Given the description of an element on the screen output the (x, y) to click on. 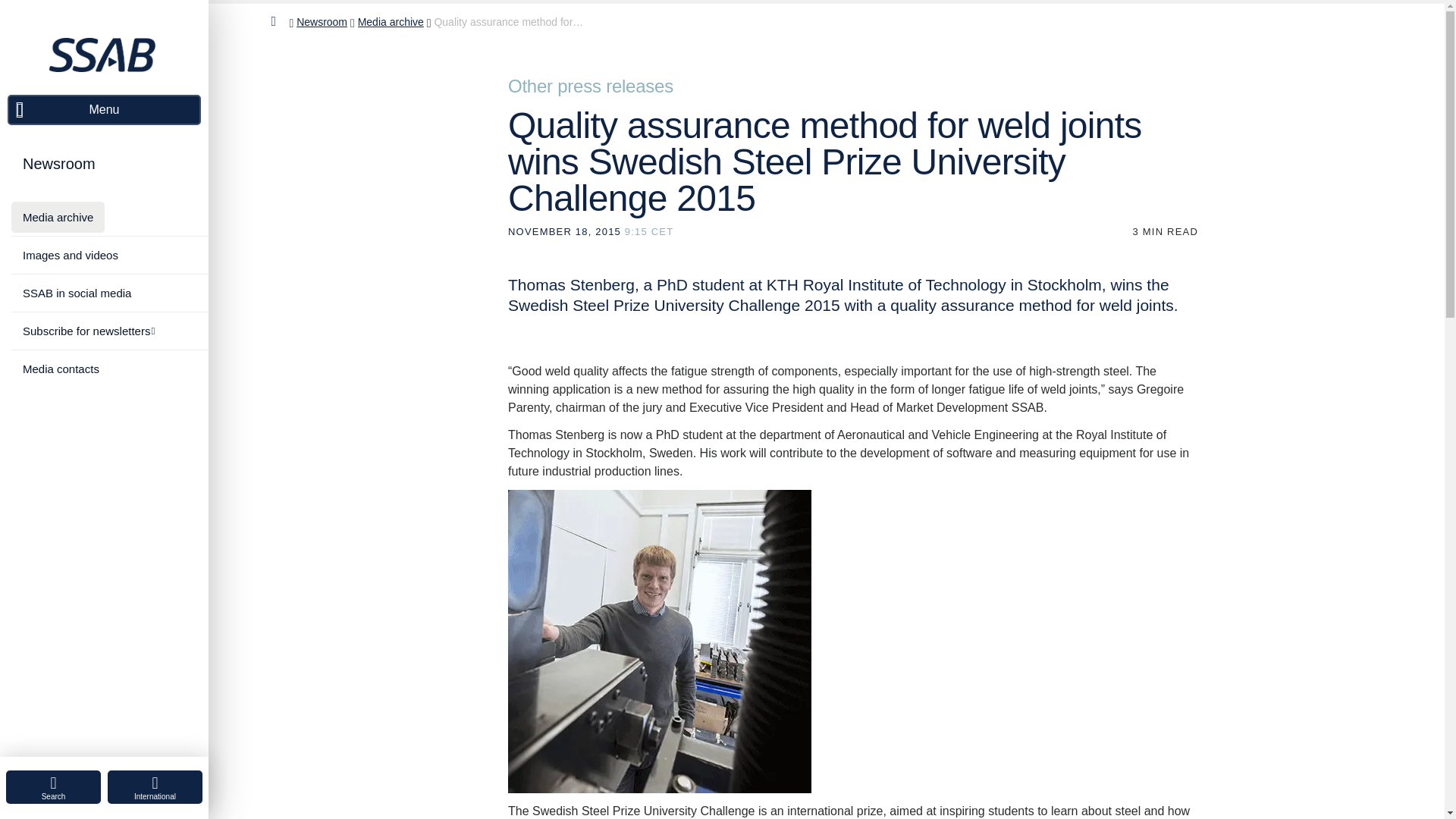
Subscribe for newsletters (88, 330)
Newsroom (58, 163)
Search (52, 786)
Menu (103, 110)
Images and videos (70, 255)
Media archive (57, 216)
International (154, 786)
SSAB in social media (76, 292)
Media contacts (60, 368)
